Given the description of an element on the screen output the (x, y) to click on. 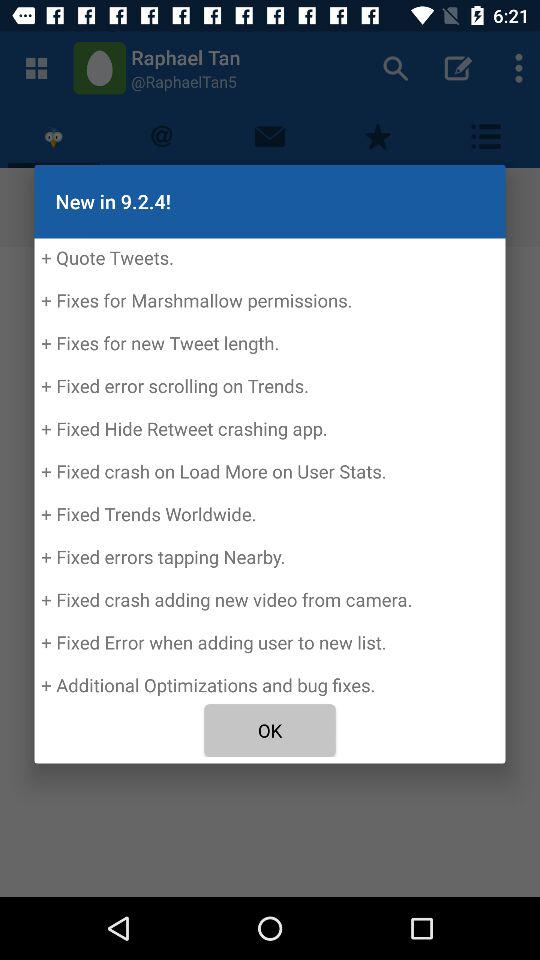
select ok at the bottom (269, 730)
